Given the description of an element on the screen output the (x, y) to click on. 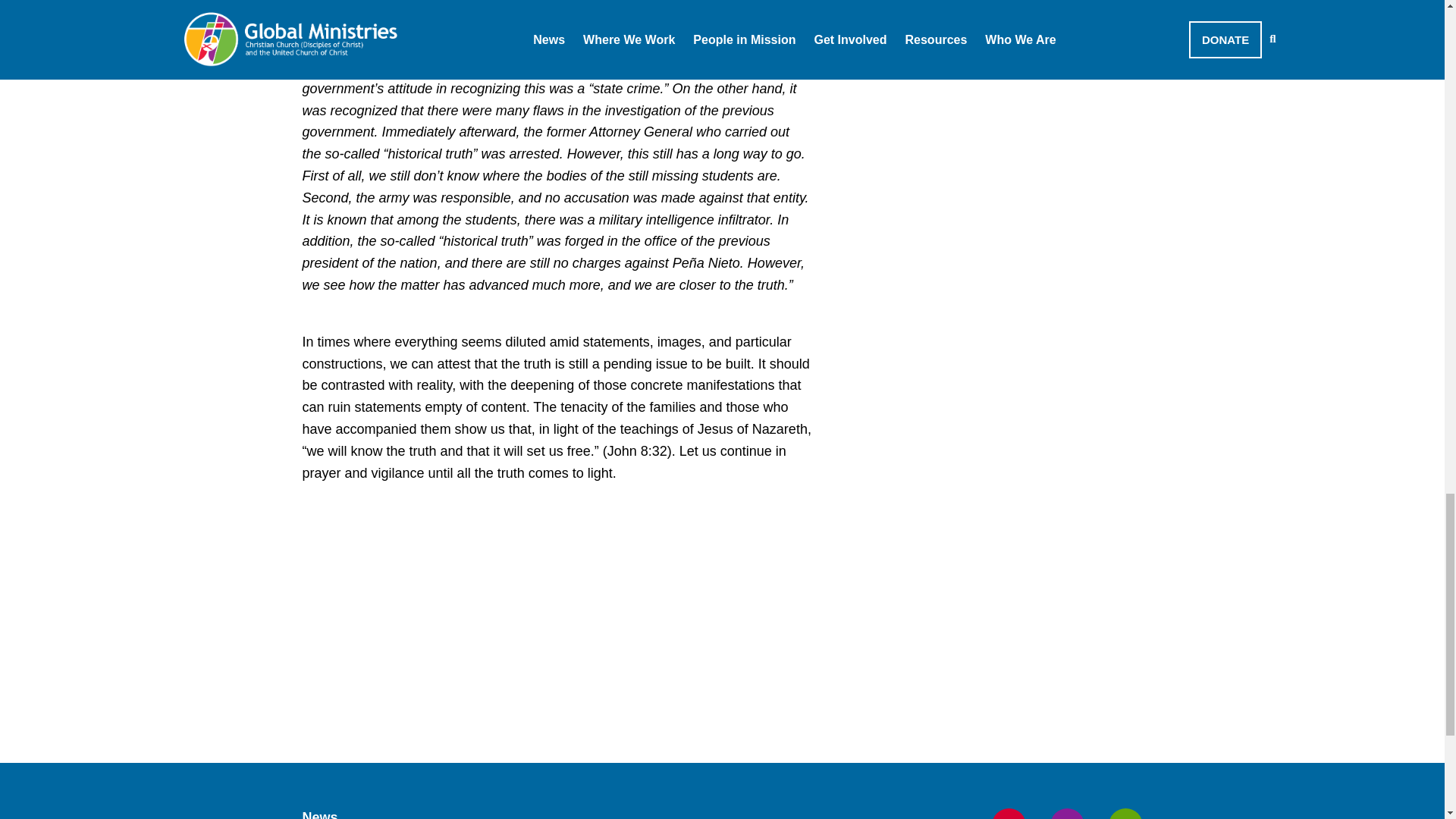
Follow us on Twitter (1066, 813)
Follow us on Facebook (1008, 813)
Follow us on Vimeo (1125, 813)
